Given the description of an element on the screen output the (x, y) to click on. 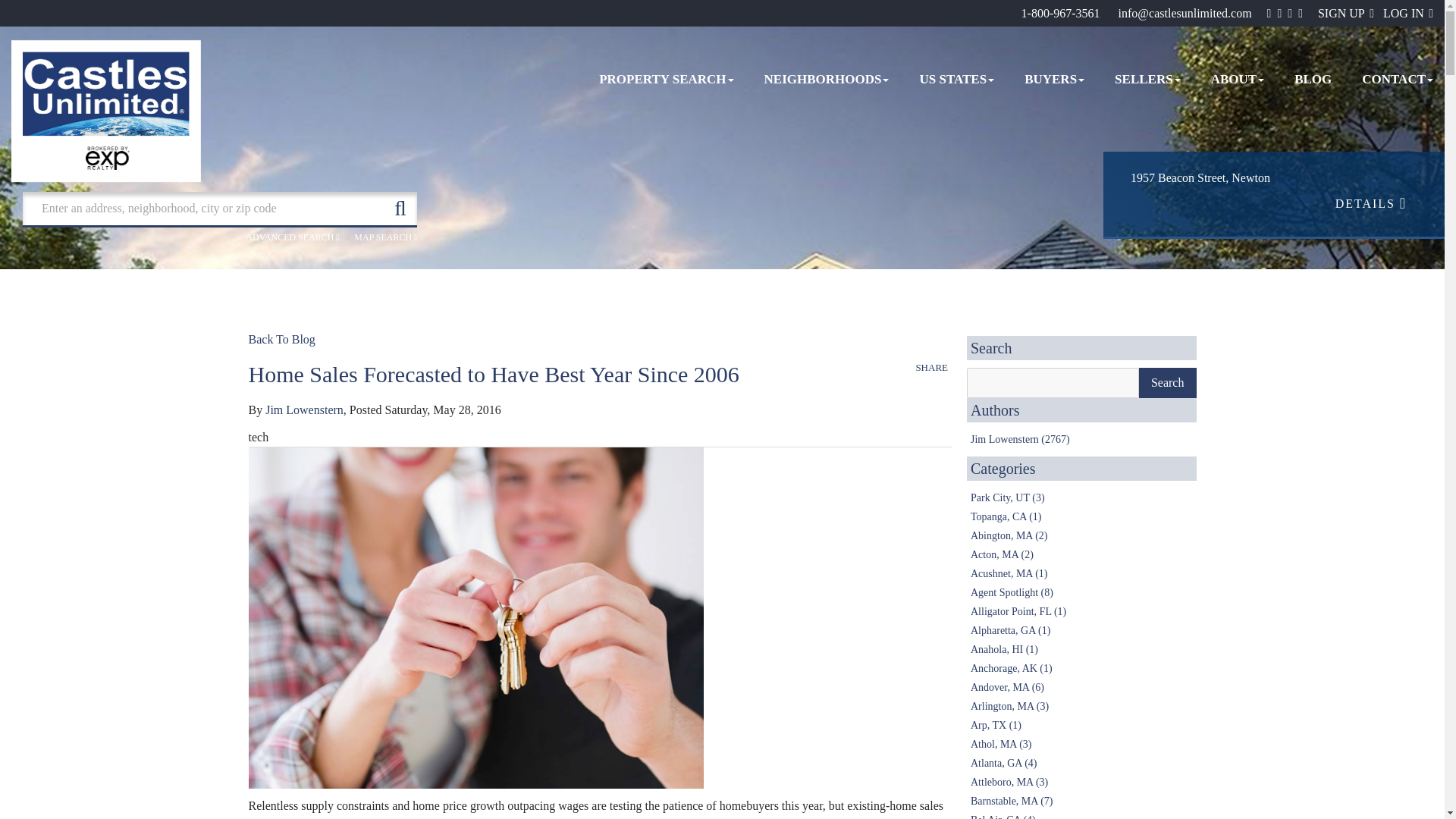
PROPERTY SEARCH (665, 80)
SIGN UP (1345, 12)
LOG IN (1407, 12)
Search (1167, 382)
NEIGHBORHOODS (826, 80)
US STATES (956, 80)
1-800-967-3561 (1061, 12)
